Given the description of an element on the screen output the (x, y) to click on. 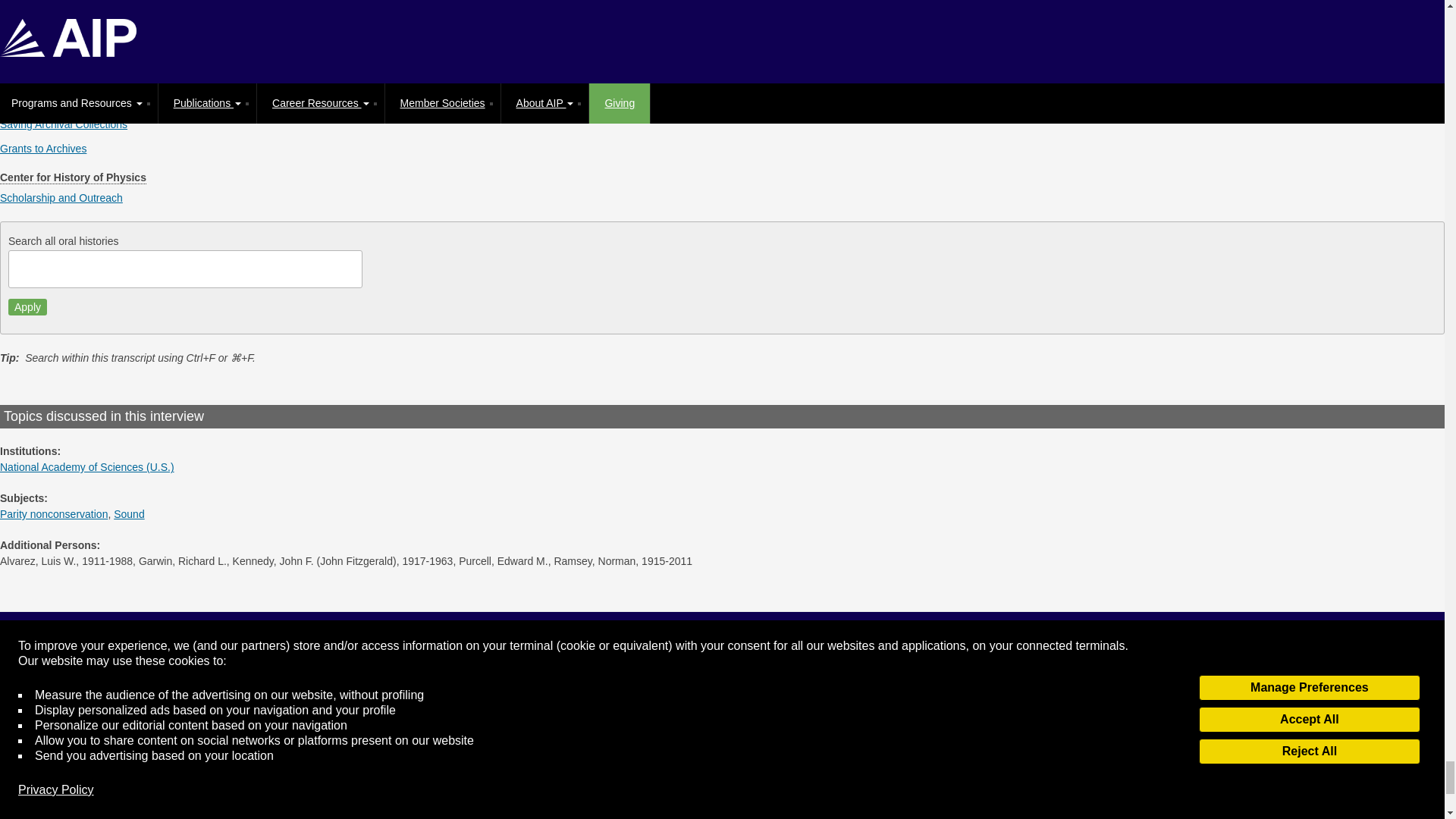
Apply (27, 306)
